Given the description of an element on the screen output the (x, y) to click on. 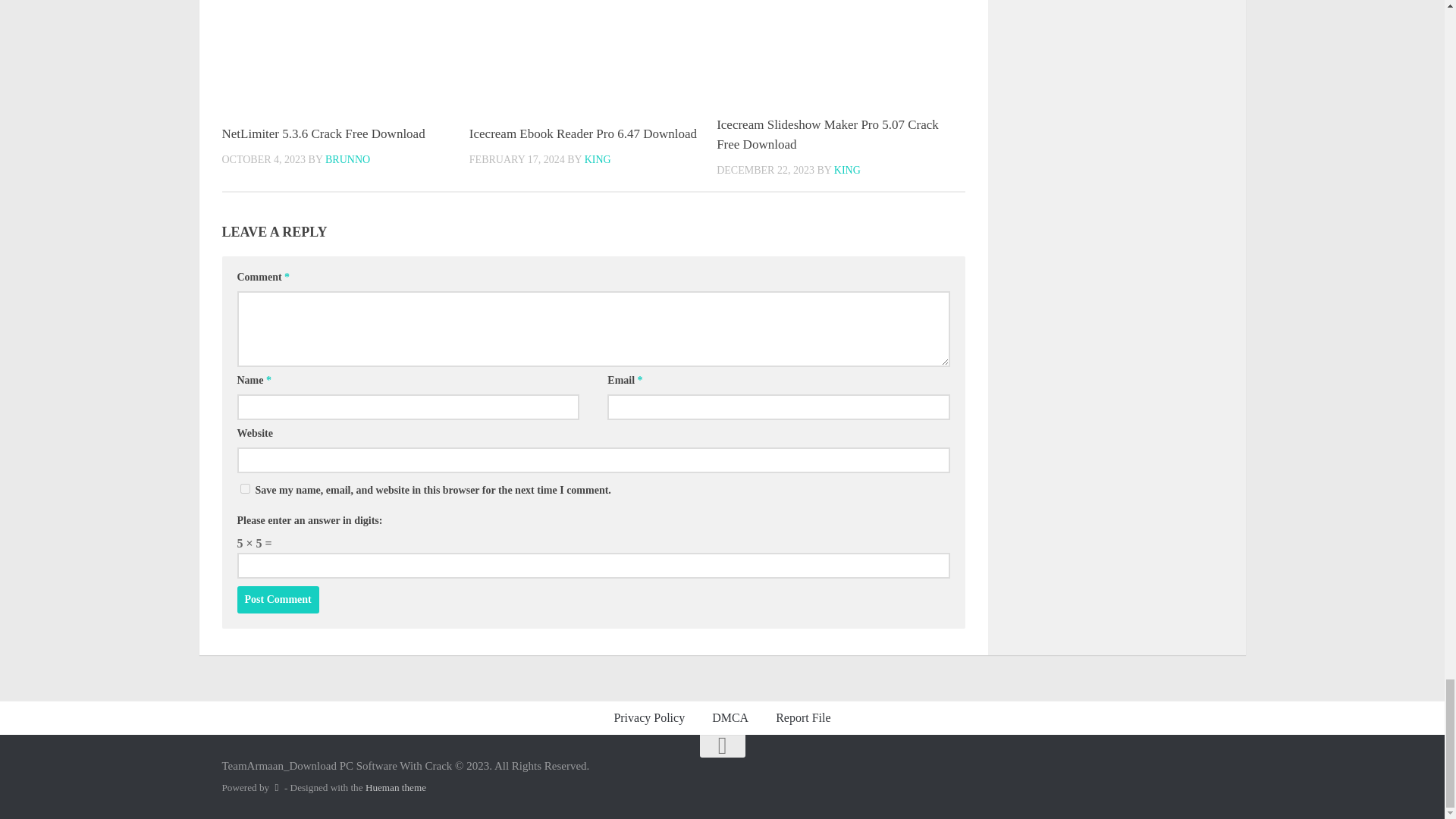
Posts by King (847, 170)
yes (244, 488)
Posts by Brunno (346, 159)
Post Comment (276, 599)
Posts by King (598, 159)
